Given the description of an element on the screen output the (x, y) to click on. 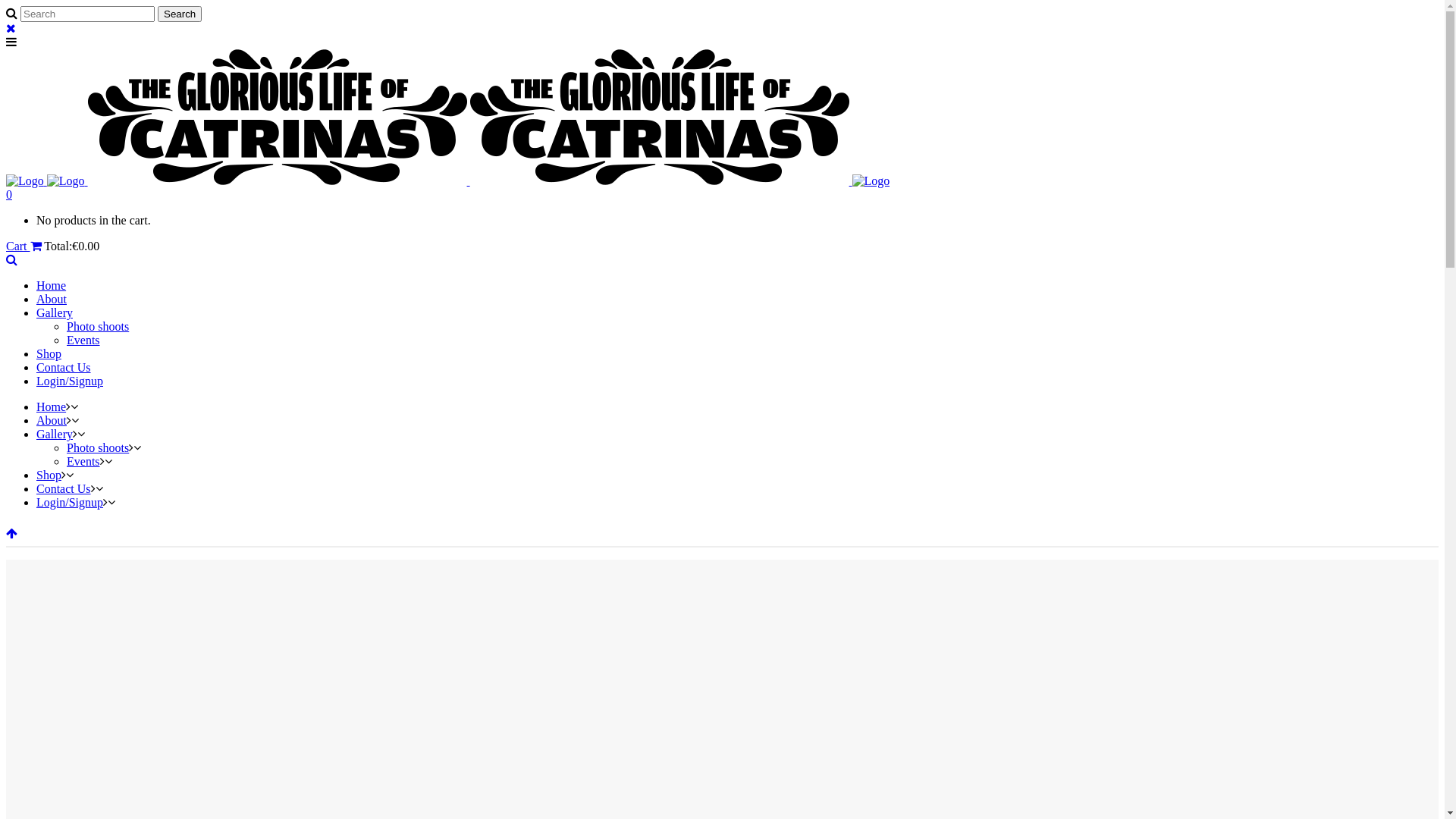
Events Element type: text (83, 339)
Search Element type: text (179, 13)
Shop Element type: text (48, 474)
Login/Signup Element type: text (69, 501)
Home Element type: text (50, 285)
Home Element type: text (50, 406)
Shop Element type: text (48, 353)
About Element type: text (51, 298)
Events Element type: text (83, 461)
Login/Signup Element type: text (69, 380)
Photo shoots Element type: text (97, 326)
Contact Us Element type: text (63, 366)
Photo shoots Element type: text (97, 447)
Contact Us Element type: text (63, 488)
Gallery Element type: text (54, 433)
0 Element type: text (9, 194)
Cart Element type: text (23, 245)
About Element type: text (51, 420)
Gallery Element type: text (54, 312)
